Given the description of an element on the screen output the (x, y) to click on. 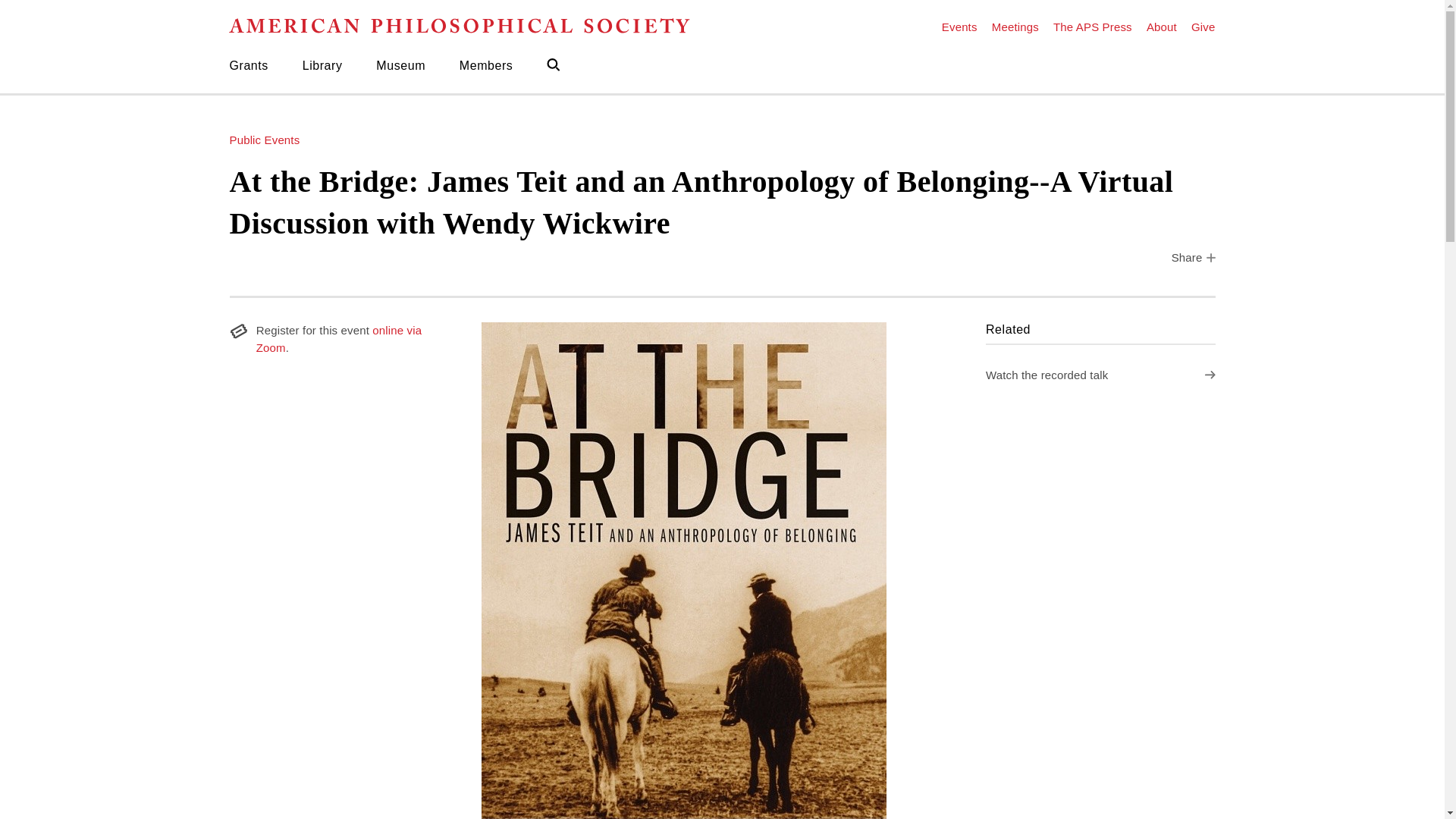
About (1154, 26)
Home (473, 26)
Meetings (1007, 26)
Give (1195, 26)
The APS Press (1085, 26)
Events (959, 26)
